Given the description of an element on the screen output the (x, y) to click on. 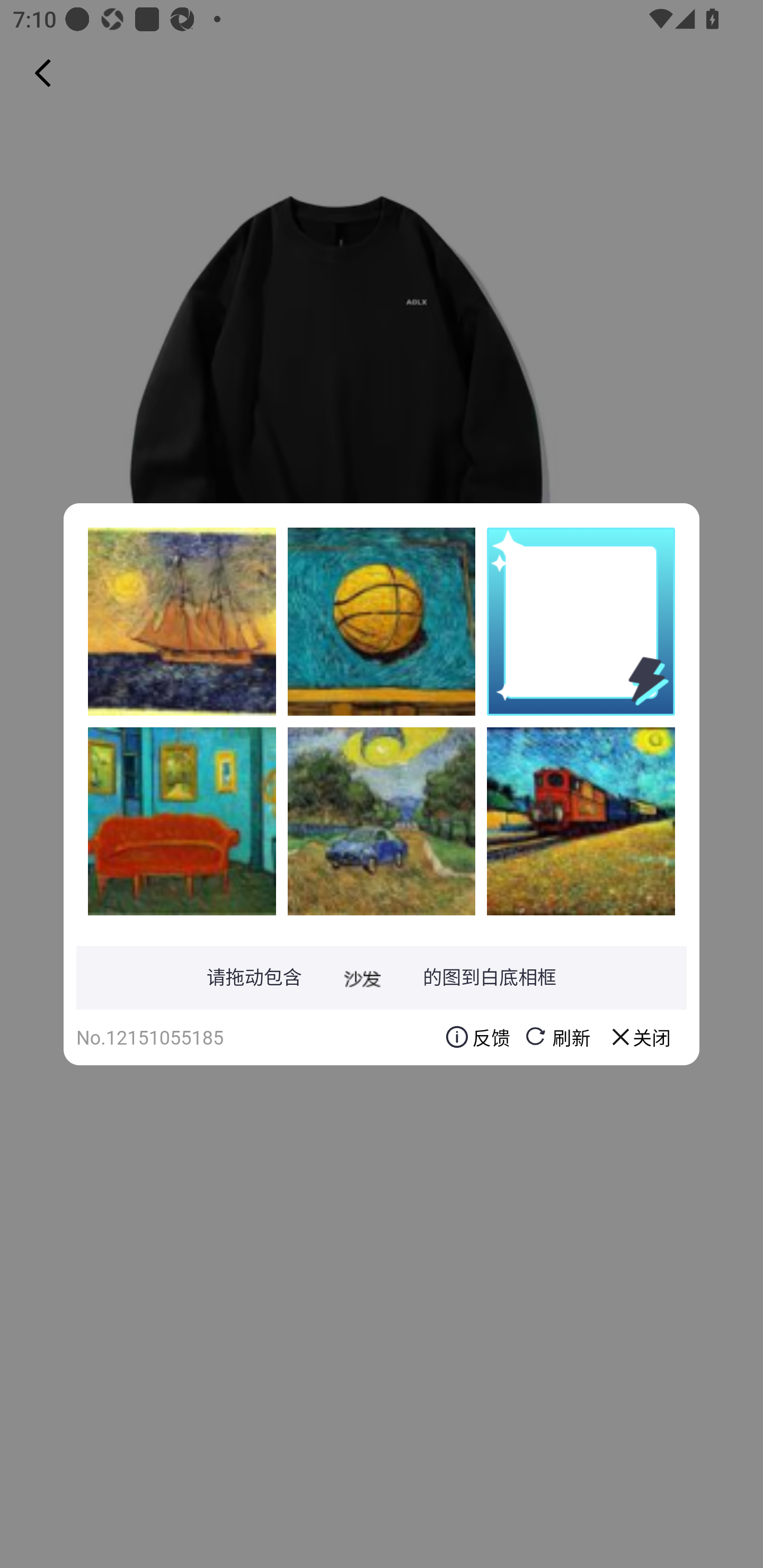
Dxw (381, 621)
